Given the description of an element on the screen output the (x, y) to click on. 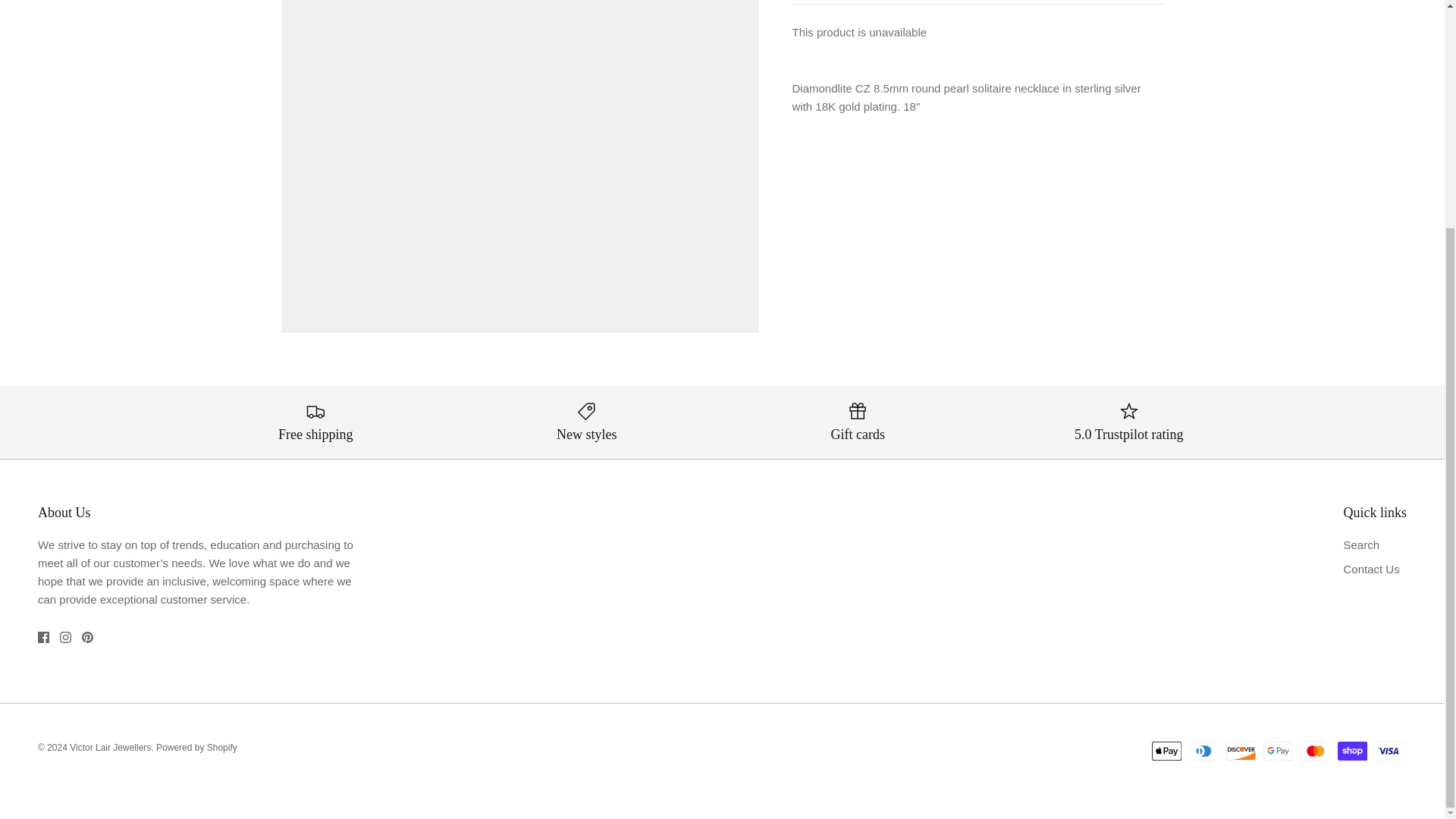
Discover (1240, 751)
Facebook (43, 636)
Pinterest (87, 636)
Apple Pay (1166, 751)
Google Pay (1277, 751)
Instagram (65, 636)
Diners Club (1203, 751)
Visa (1388, 751)
Shop Pay (1352, 751)
Mastercard (1315, 751)
